Given the description of an element on the screen output the (x, y) to click on. 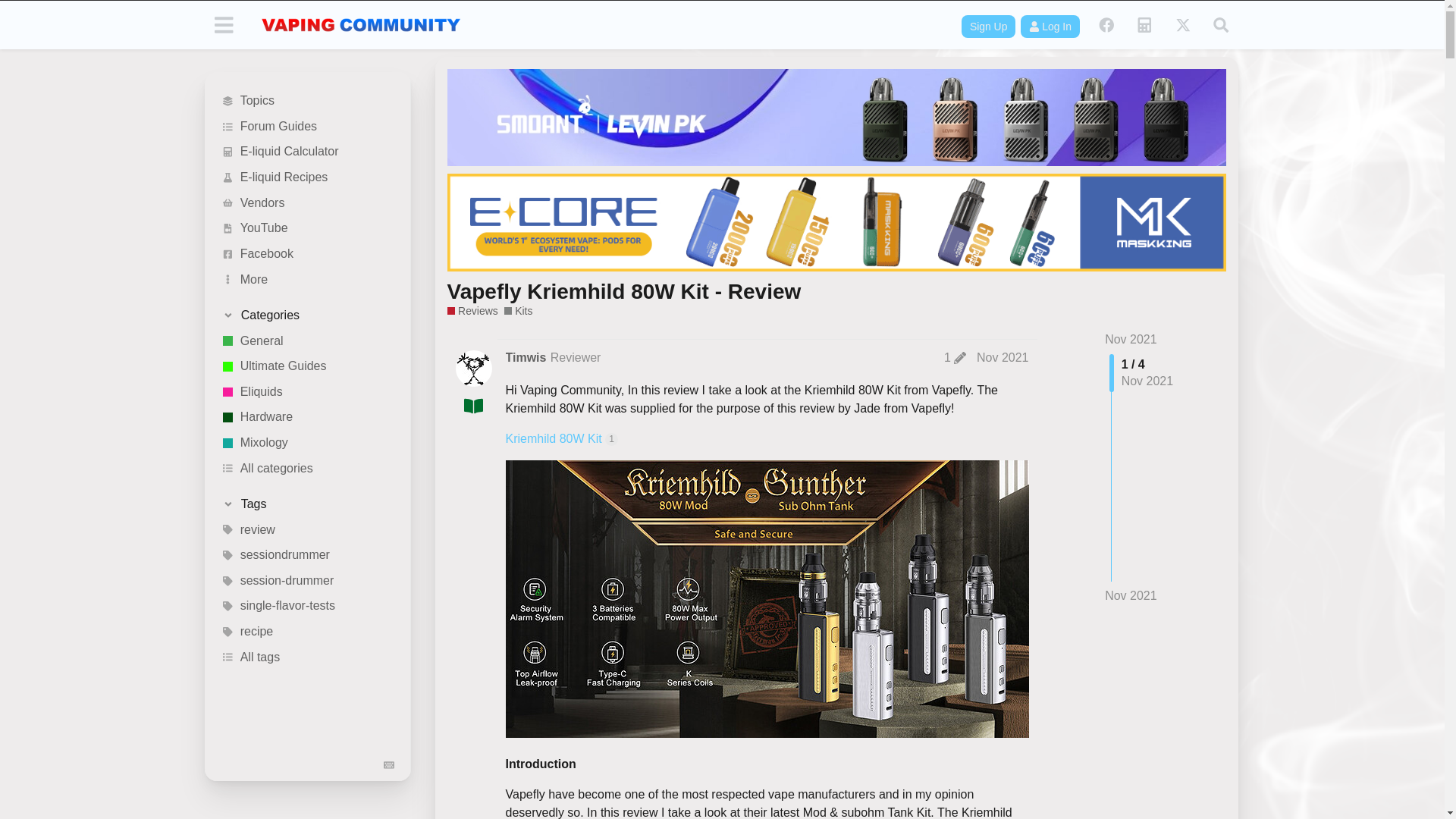
Topics (307, 101)
Mixology (307, 442)
Search (1220, 24)
review (307, 529)
E-liquid Recipes (307, 177)
Log In (1050, 26)
Kits (517, 310)
session-drummer (307, 580)
Ultimate Guides (307, 366)
